Given the description of an element on the screen output the (x, y) to click on. 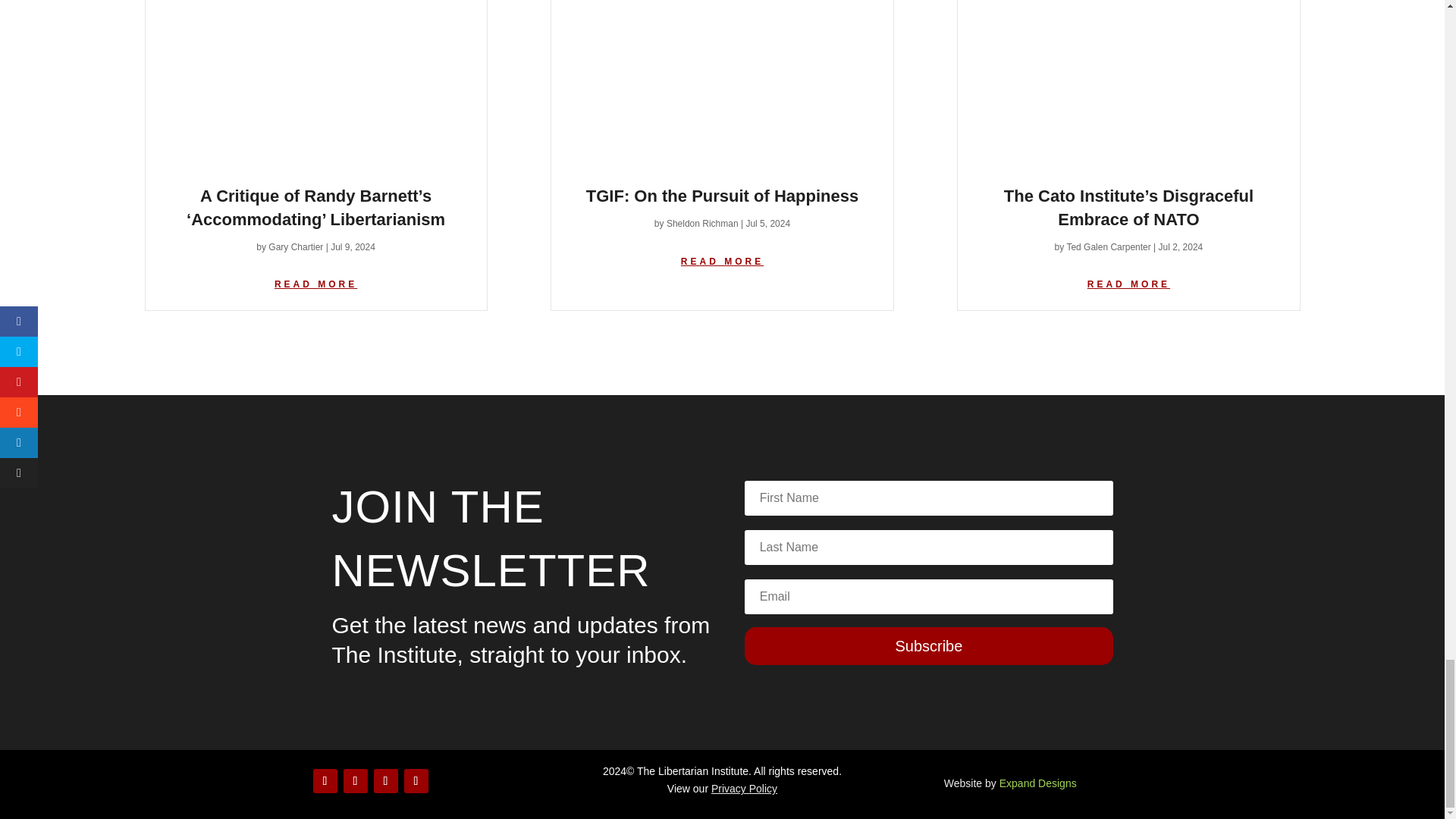
Posts by Gary Chartier (295, 246)
Posts by Sheldon Richman (702, 223)
